Given the description of an element on the screen output the (x, y) to click on. 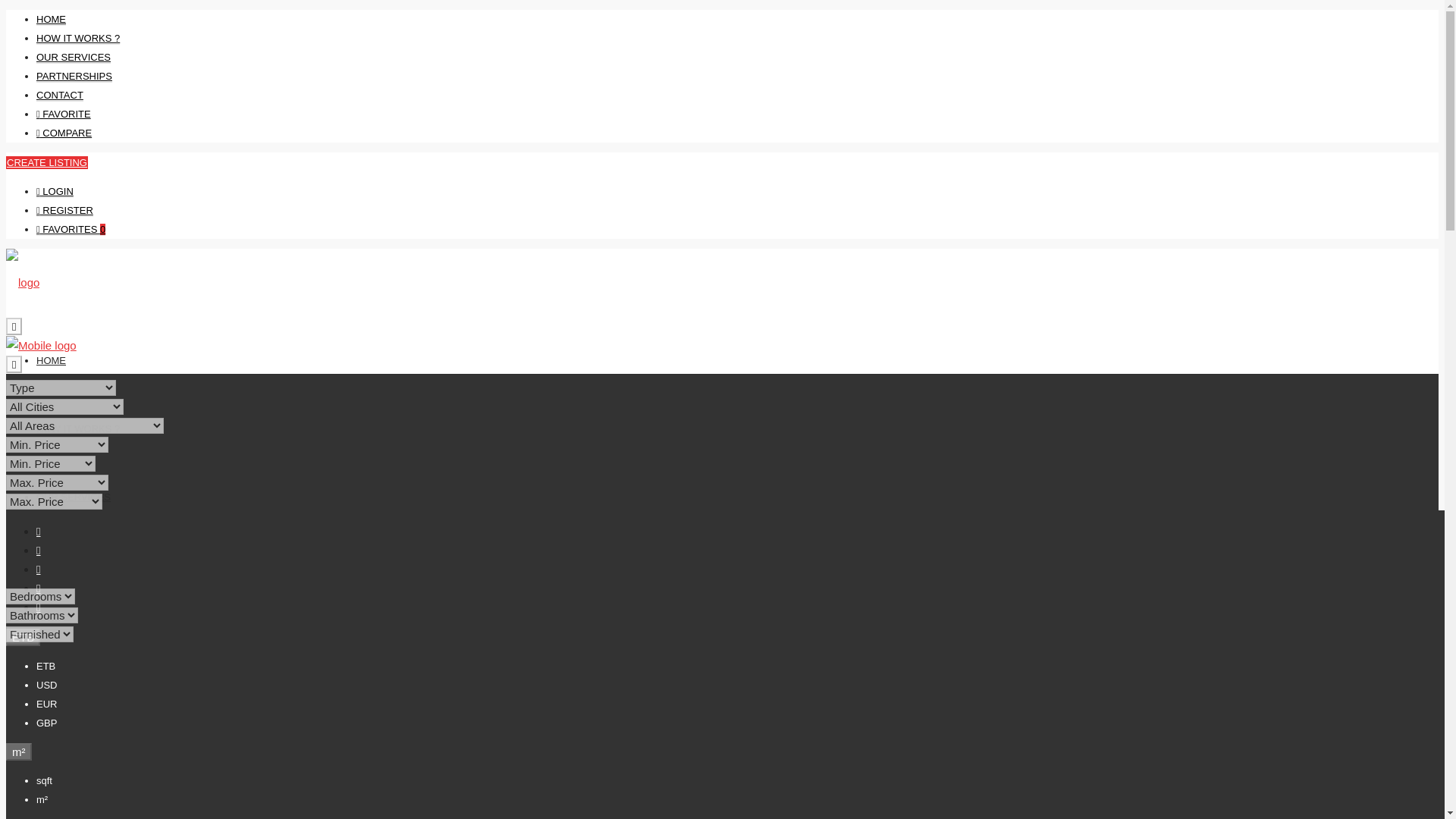
Furnished (39, 634)
HOME (50, 360)
PARTNERSHIPS (74, 76)
terrace (600, 690)
OUR SERVICES (73, 496)
house-keeping (366, 690)
ETB (22, 637)
CONTACT (59, 633)
balcony (90, 690)
Advanced (34, 520)
